Given the description of an element on the screen output the (x, y) to click on. 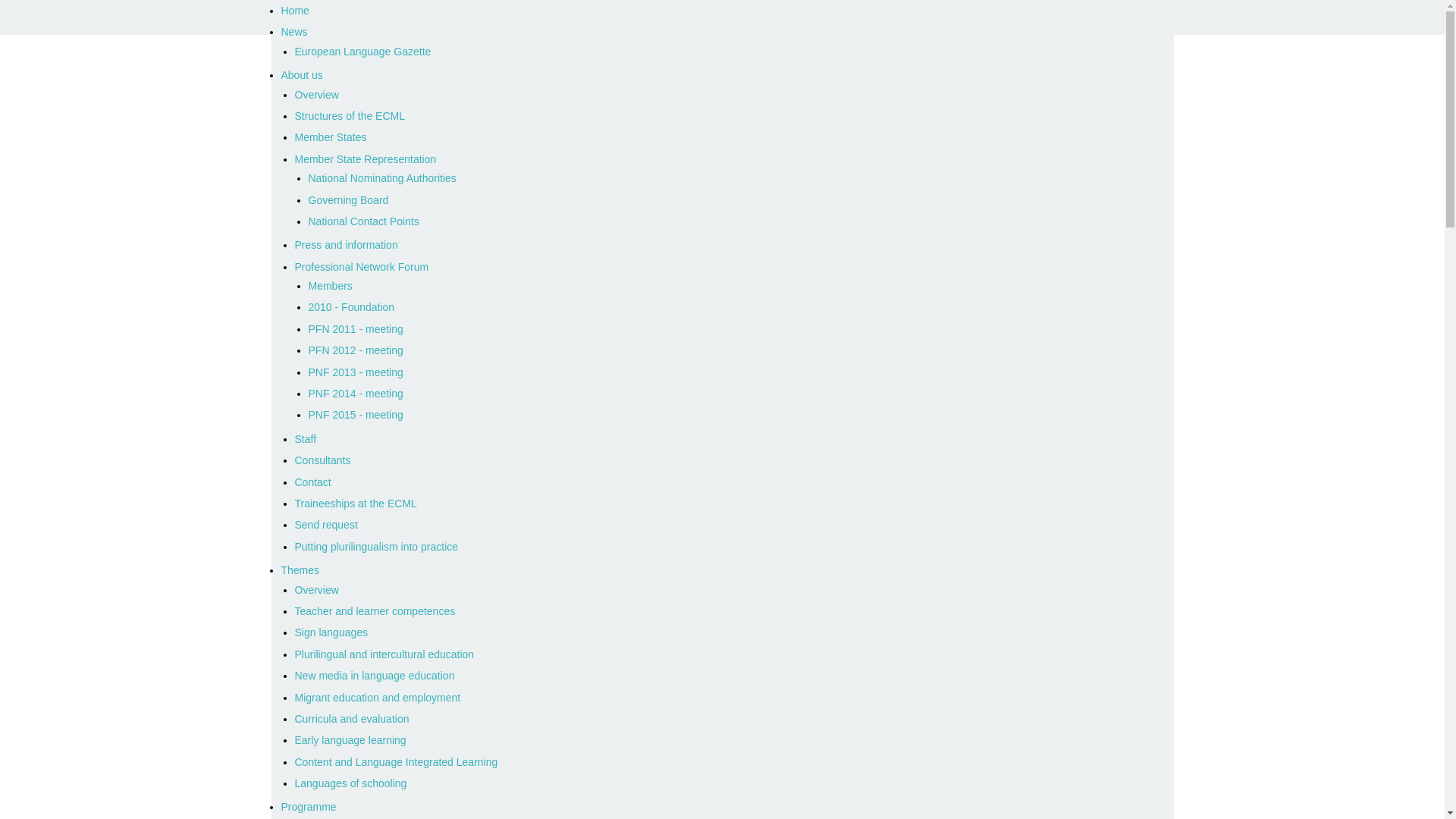
New media in language education (374, 675)
Press and information (345, 244)
Putting plurilingualism into practice (376, 546)
Overview (315, 589)
PNF 2014 - meeting (355, 393)
Contact (312, 481)
Languages of schooling (350, 783)
Early language learning (350, 739)
Governing Board (347, 200)
Members (329, 285)
European Language Gazette (362, 51)
Sign languages (331, 632)
Home (727, 10)
Plurilingual and intercultural education (384, 654)
News (727, 31)
